Given the description of an element on the screen output the (x, y) to click on. 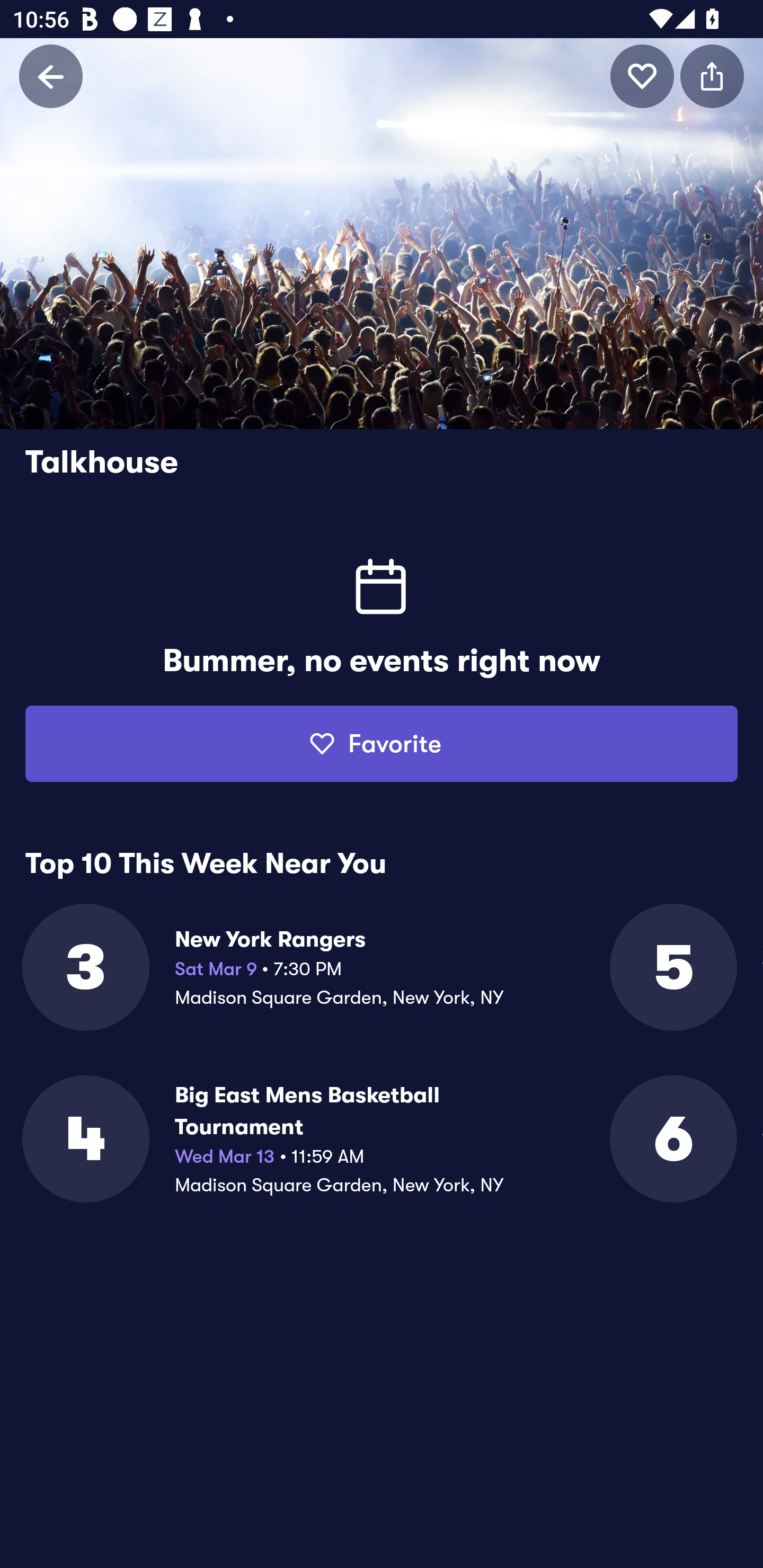
Back (50, 75)
icon button (641, 75)
icon button (711, 75)
Favorite (381, 743)
